Given the description of an element on the screen output the (x, y) to click on. 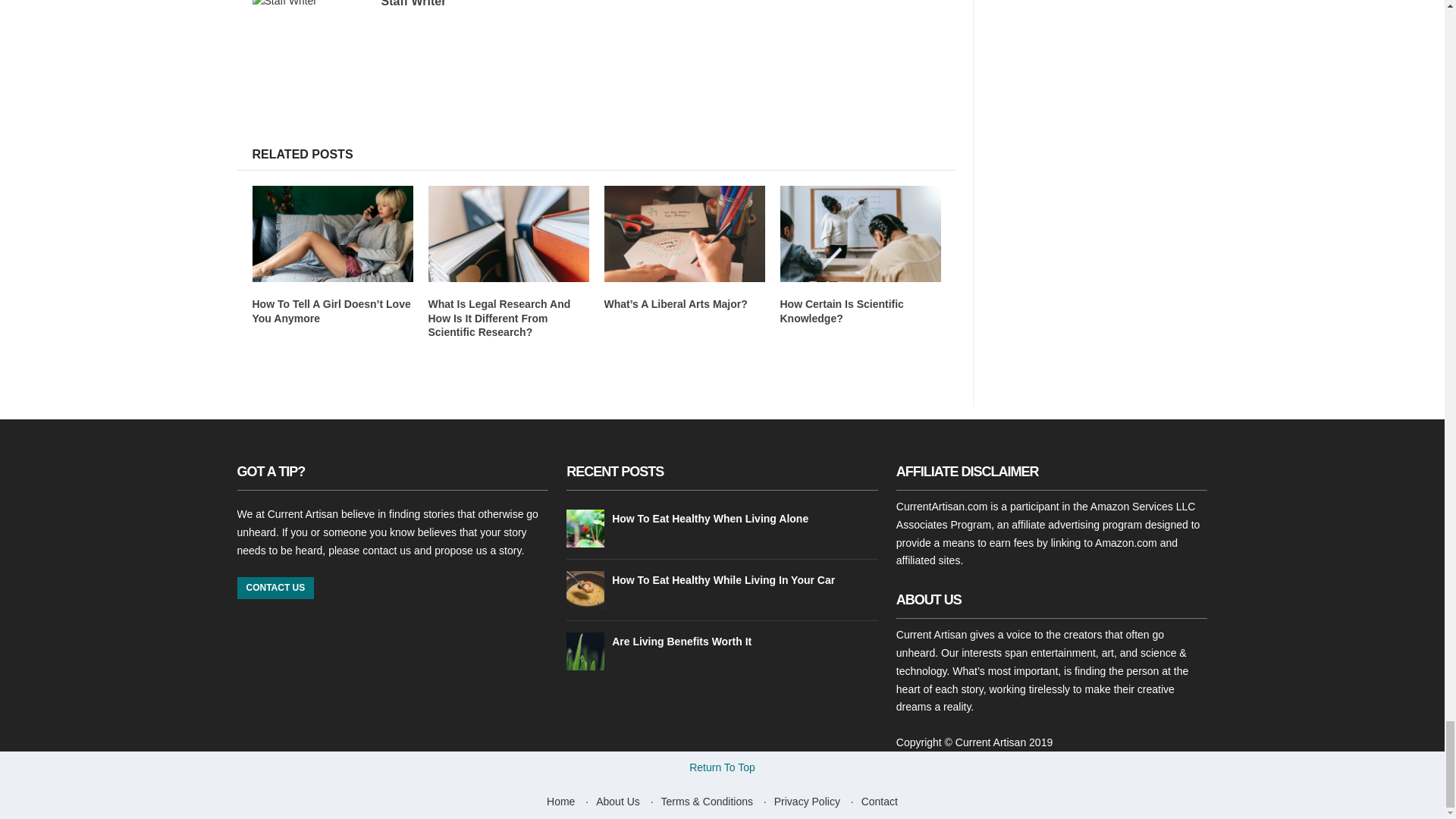
Staff Writer (412, 3)
View all posts by Staff Writer (412, 3)
How Certain Is Scientific Knowledge? (840, 310)
